Given the description of an element on the screen output the (x, y) to click on. 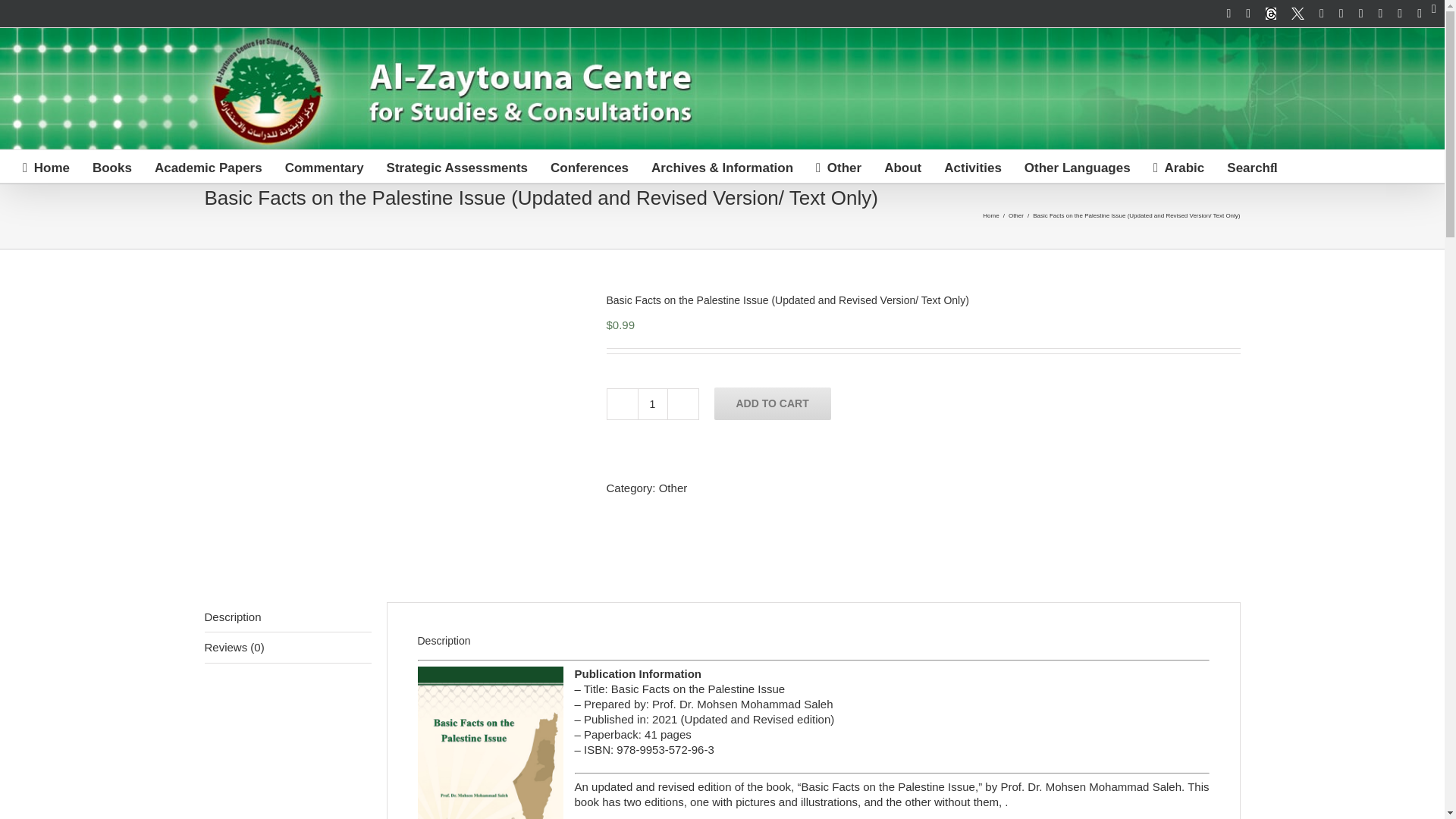
Search (1251, 165)
Commentary (324, 165)
Conferences (589, 165)
Home (46, 165)
Academic Papers (208, 165)
Books (112, 165)
1 (651, 404)
Strategic Assessments (457, 165)
